Given the description of an element on the screen output the (x, y) to click on. 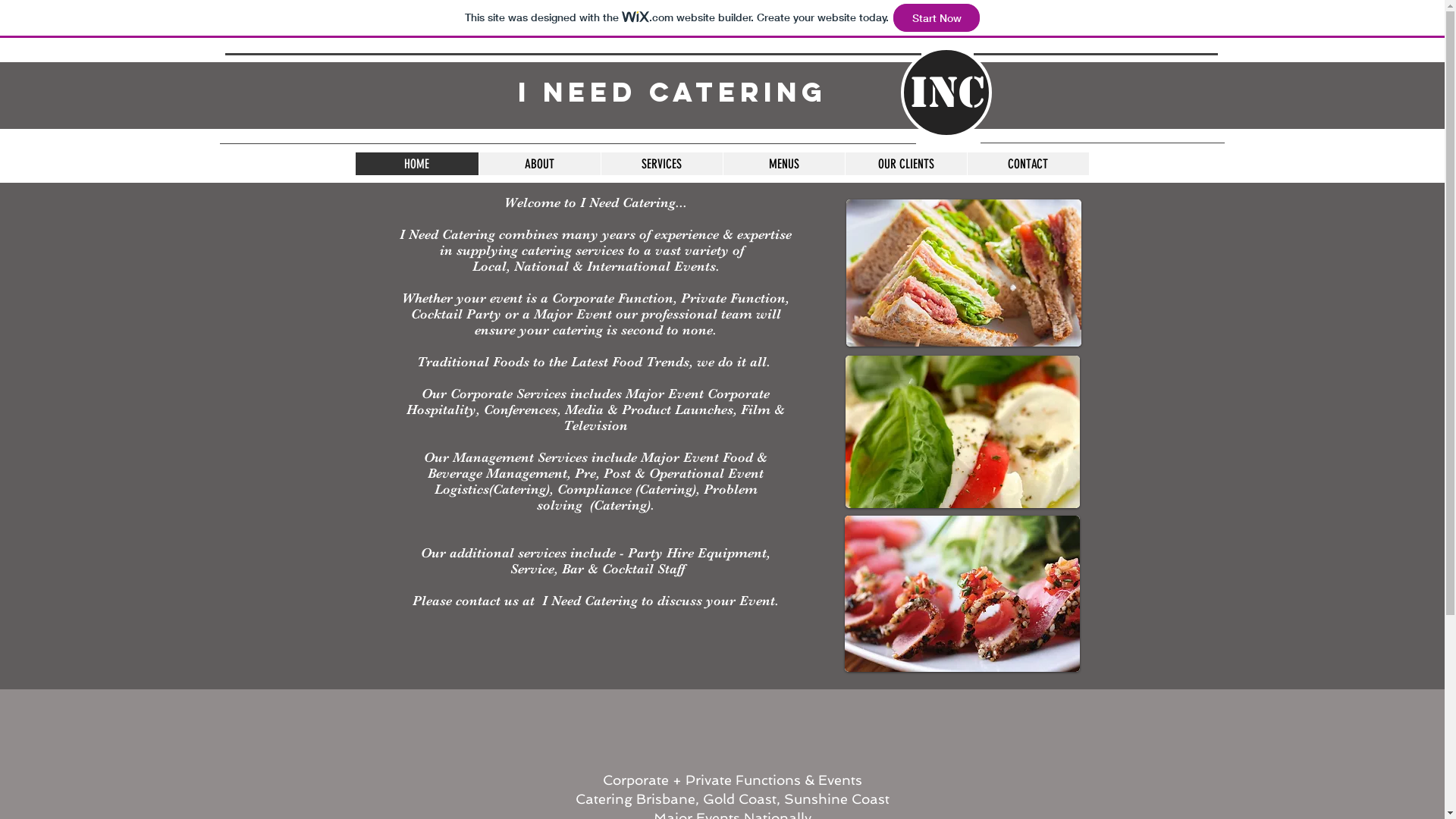
OUR CLIENTS Element type: text (905, 163)
CONTACT Element type: text (1027, 163)
Delicious Sandwich Element type: hover (963, 272)
HOME Element type: text (415, 163)
ABOUT Element type: text (538, 163)
MENUS Element type: text (782, 163)
SERVICES Element type: text (661, 163)
Tuna Tataki  Element type: hover (961, 593)
Caprese Element type: hover (961, 431)
